Given the description of an element on the screen output the (x, y) to click on. 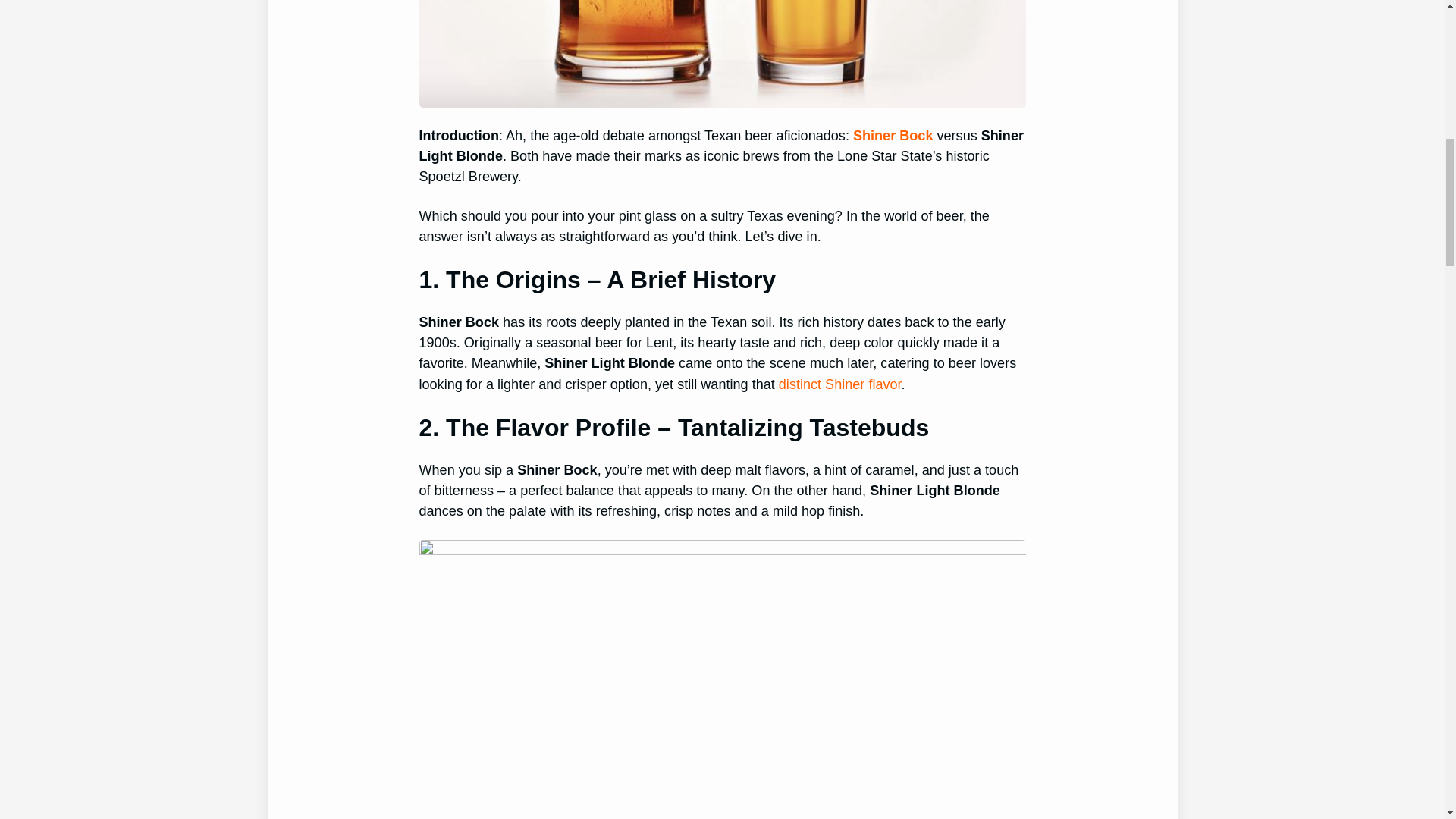
distinct Shiner flavor (839, 383)
Shiner Bock (893, 135)
